Given the description of an element on the screen output the (x, y) to click on. 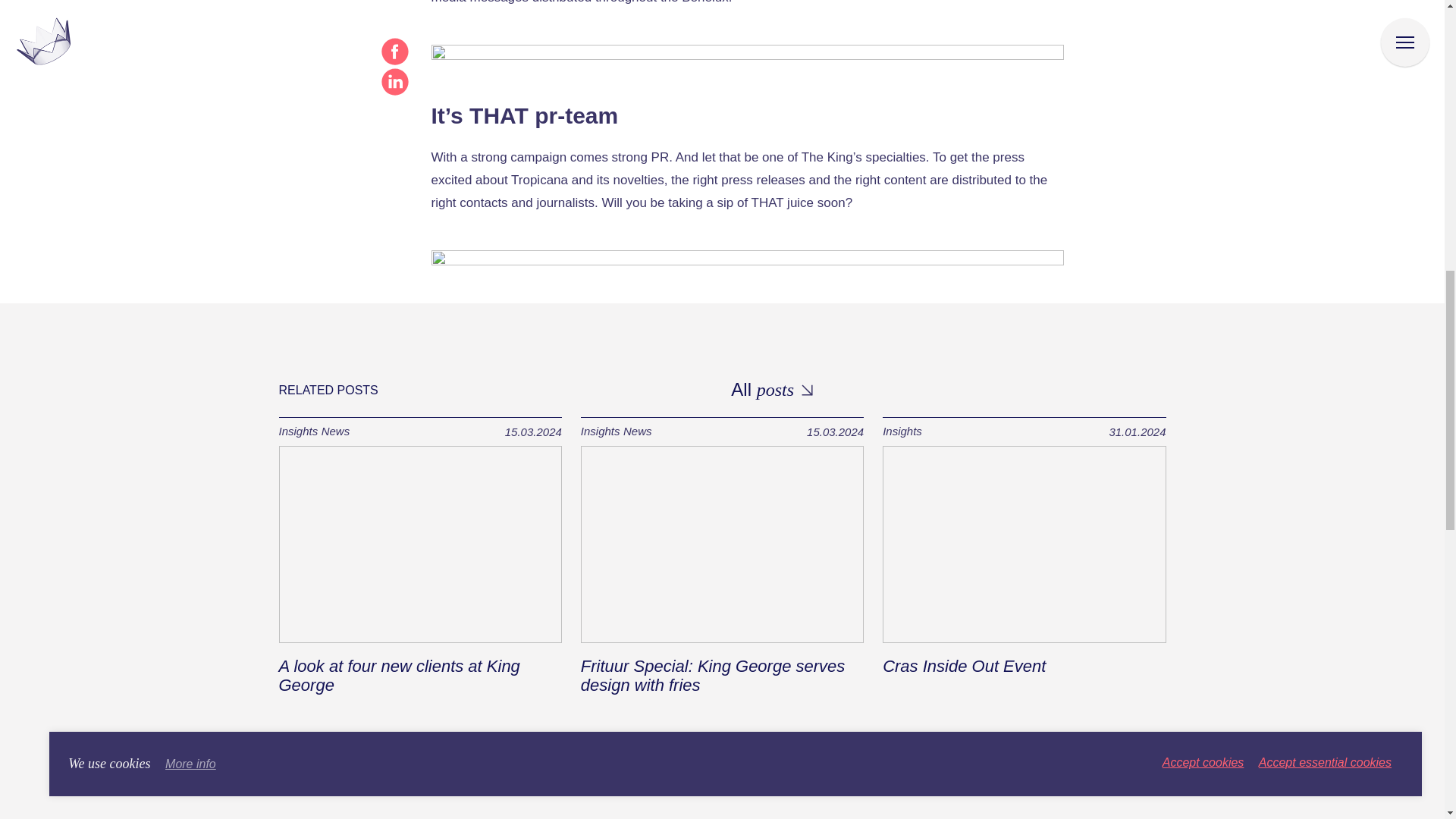
All posts (771, 390)
